Given the description of an element on the screen output the (x, y) to click on. 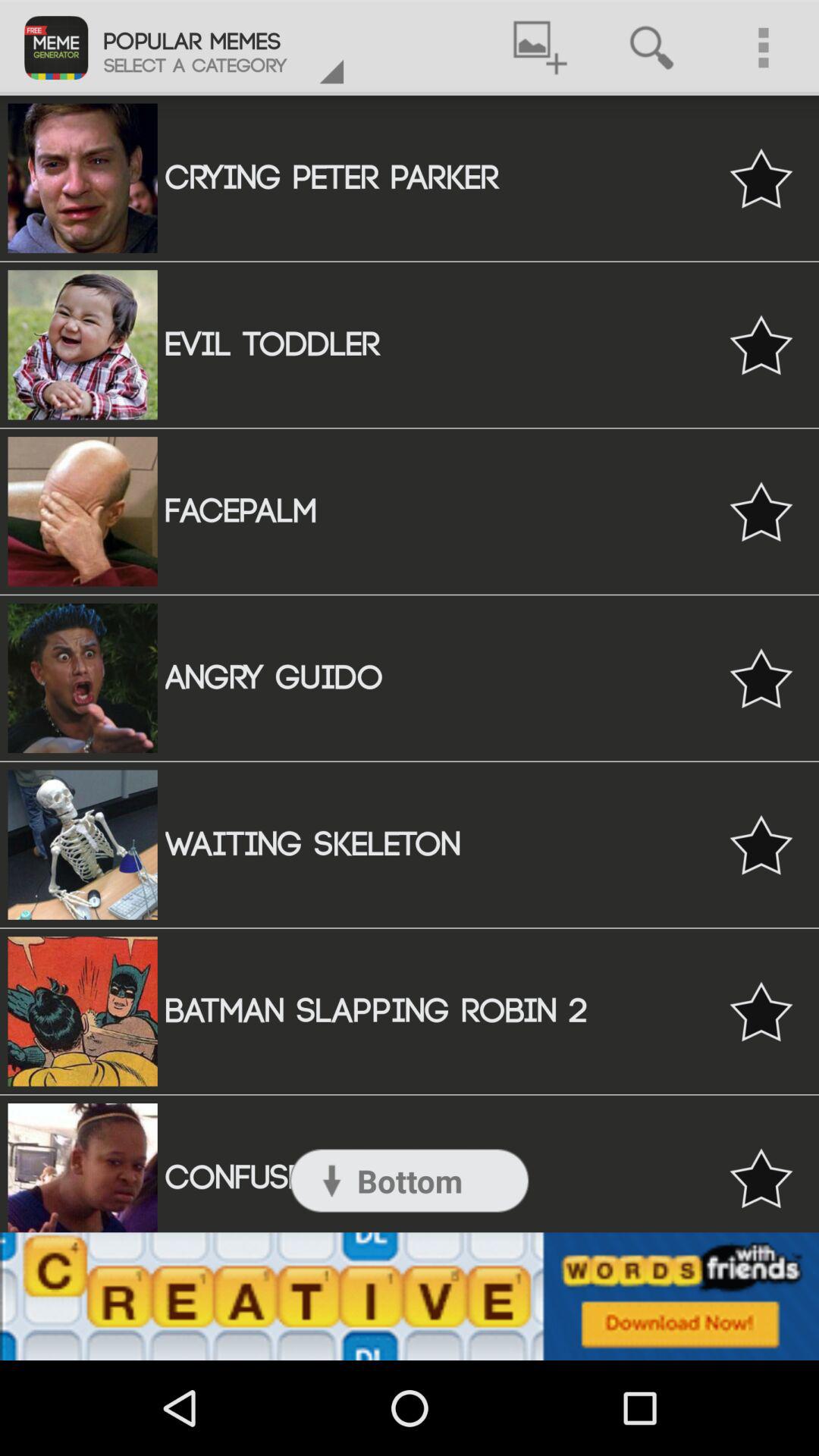
toggle favorite (761, 344)
